Given the description of an element on the screen output the (x, y) to click on. 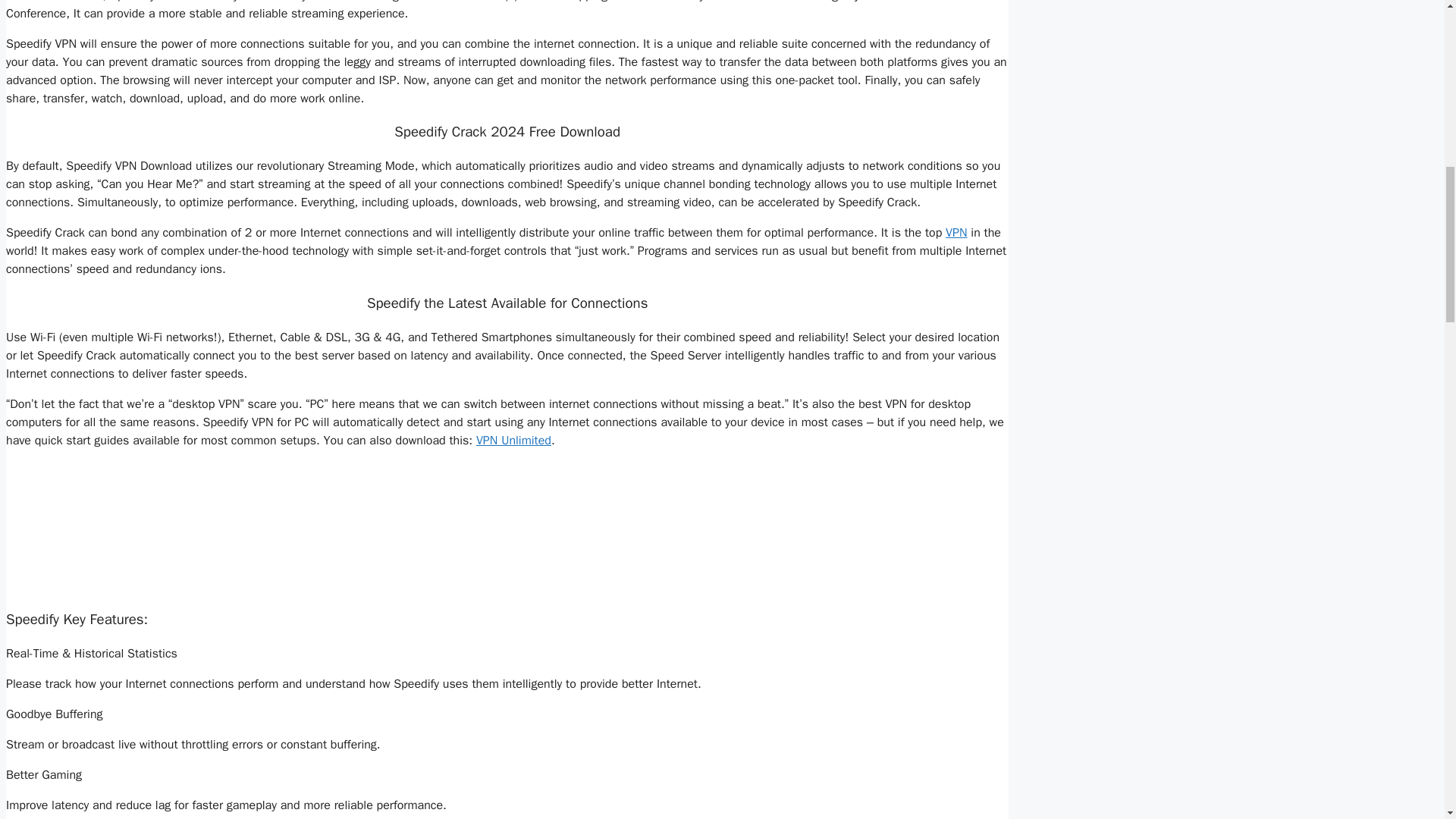
VPN (955, 232)
VPN Unlimited (513, 440)
